Given the description of an element on the screen output the (x, y) to click on. 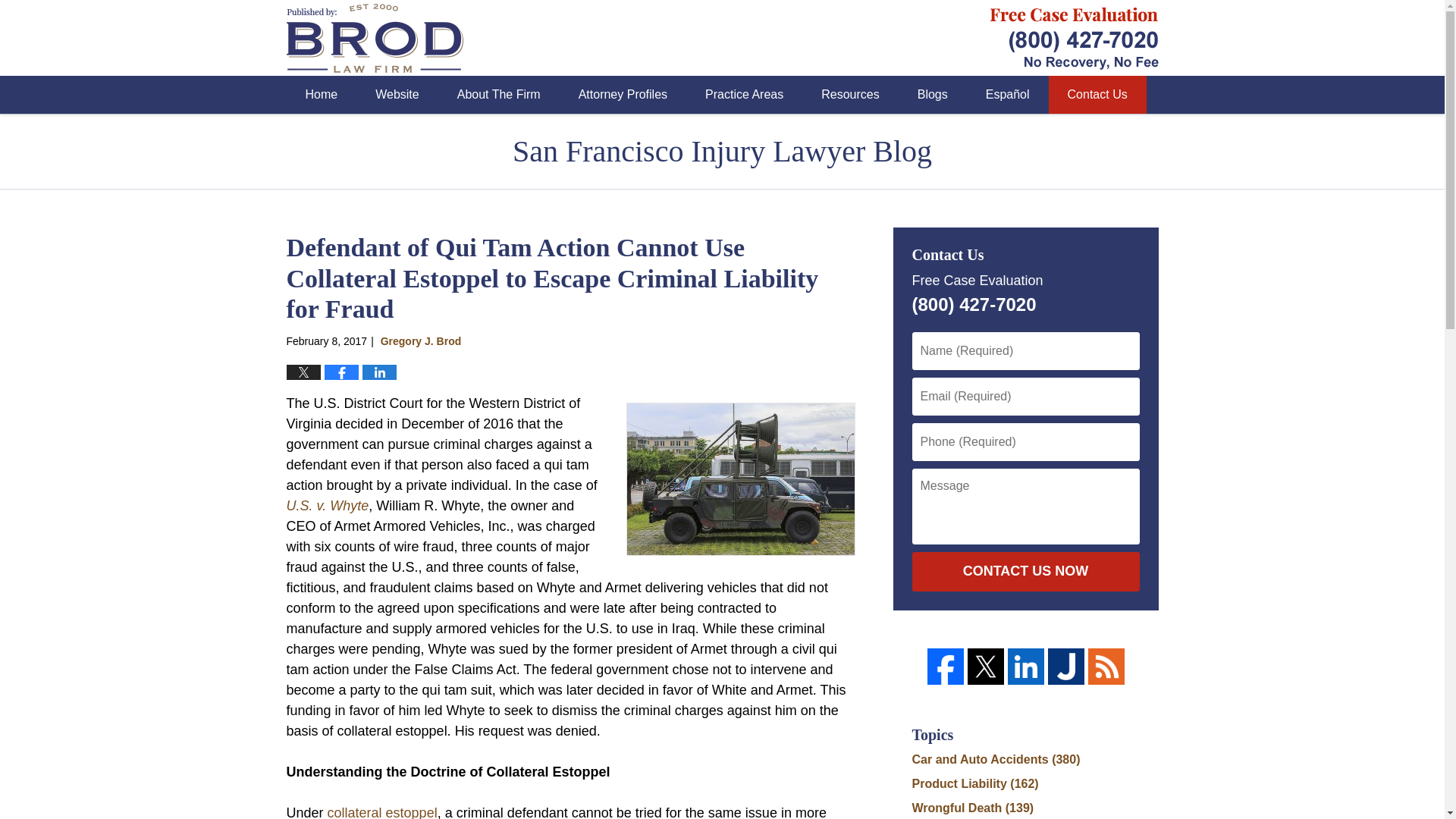
Gregory J. Brod (420, 340)
CONTACT US NOW (1024, 571)
Published By Brod Law Firm (1074, 36)
Please enter a valid phone number. (1024, 442)
LinkedIn (1025, 666)
Resources (850, 94)
Home (321, 94)
San Francisco Injury Lawyer Blog (374, 37)
About The Firm (498, 94)
Twitter (986, 666)
Facebook (944, 666)
Practice Areas (743, 94)
U.S. v. Whyte (327, 505)
collateral estoppel (380, 812)
Blogs (932, 94)
